Given the description of an element on the screen output the (x, y) to click on. 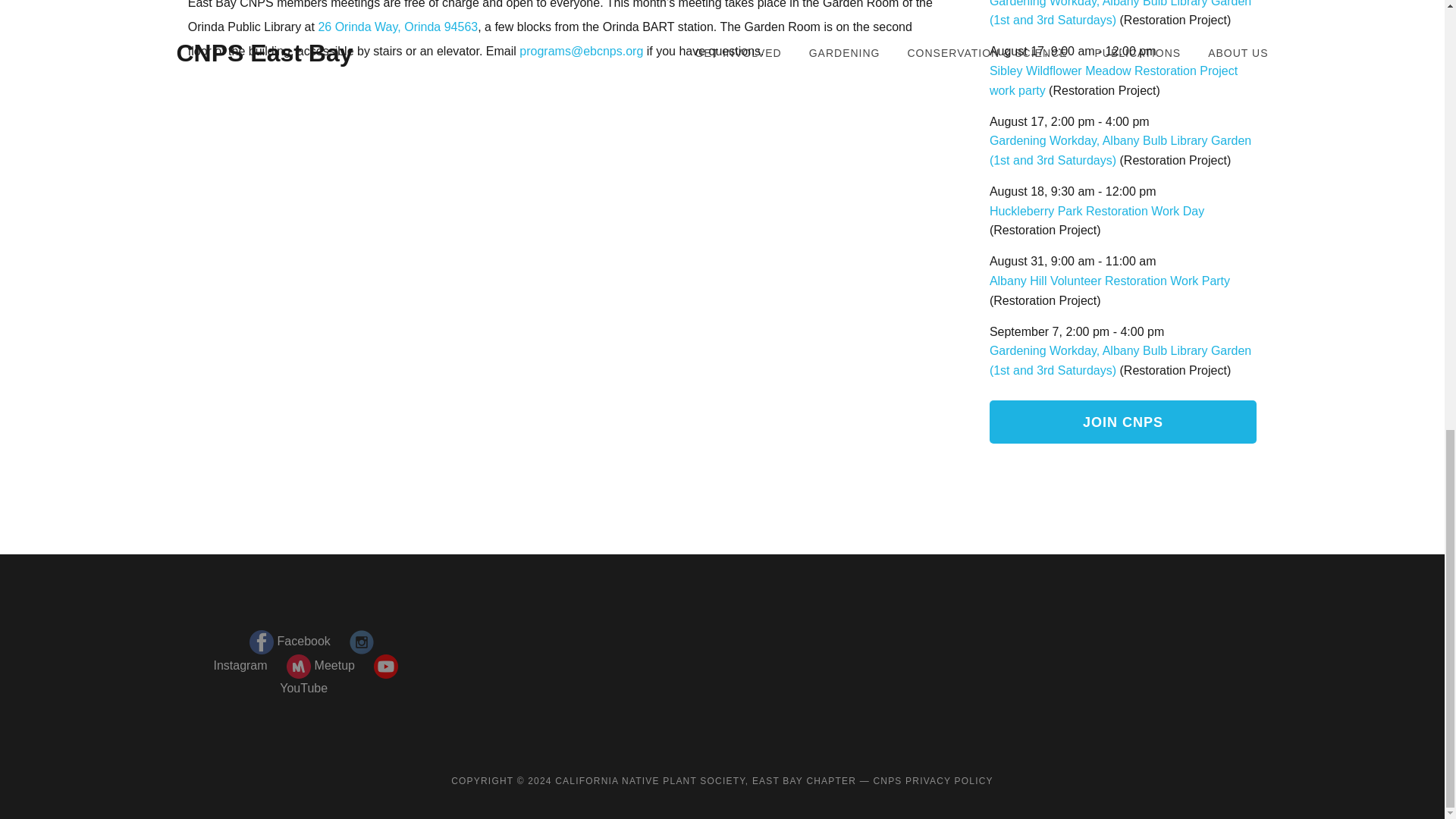
26 Orinda Way, Orinda 94563 (397, 26)
